Given the description of an element on the screen output the (x, y) to click on. 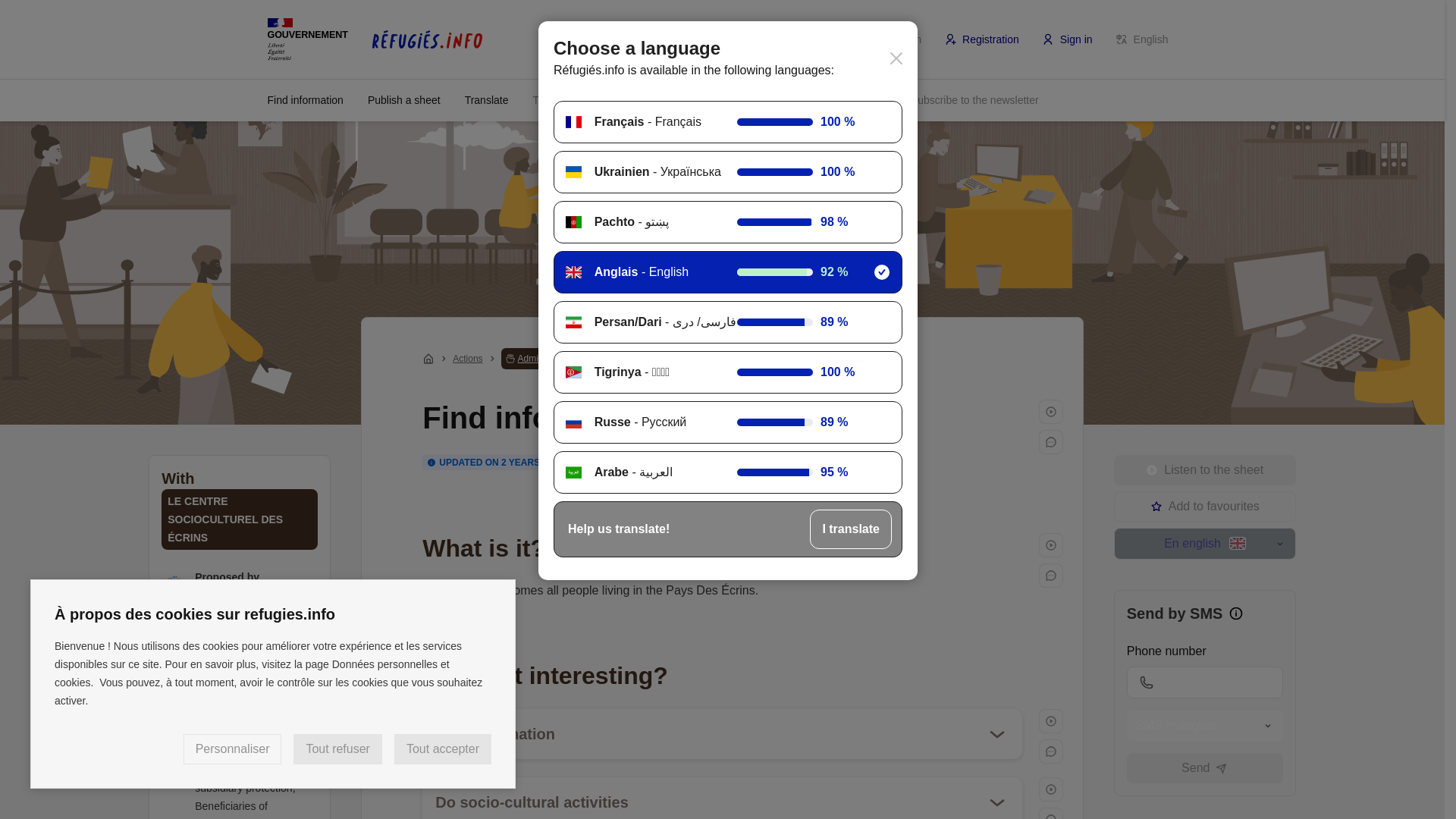
Personnaliser (232, 748)
Talk about us (572, 99)
React (1050, 441)
Accueil (427, 357)
Sign in (1067, 39)
Translate (486, 99)
Download the application (826, 99)
Subscribe to the newsletter (974, 99)
Autoriser tous les cookies (443, 748)
Listen (1050, 720)
